Given the description of an element on the screen output the (x, y) to click on. 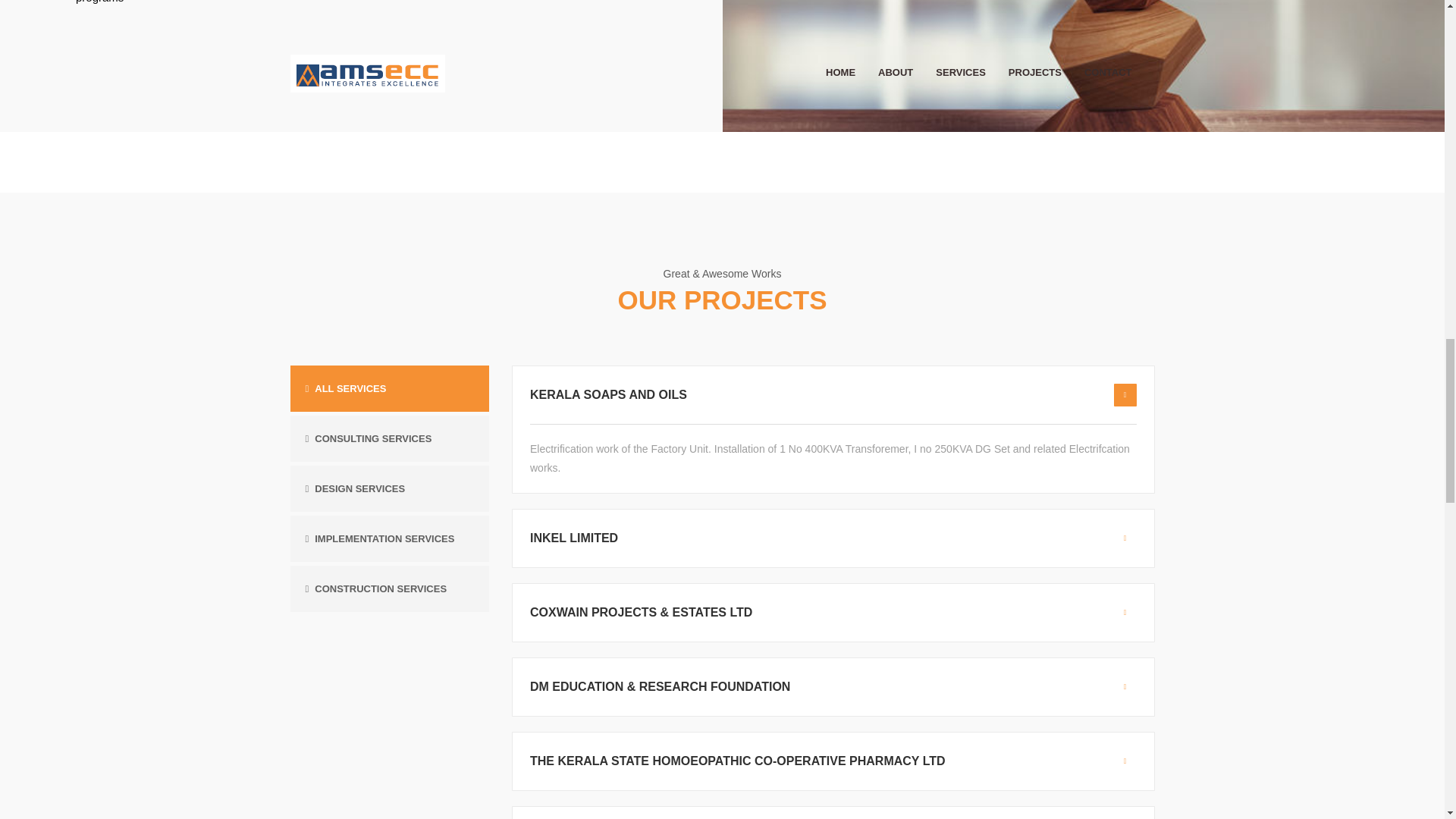
ALL SERVICES (344, 387)
INKEL LIMITED (573, 536)
KERALA SOAPS AND OILS (608, 394)
DESIGN SERVICES (354, 487)
THE KERALA STATE HOMOEOPATHIC CO-OPERATIVE PHARMACY LTD (736, 759)
IMPLEMENTATION SERVICES (379, 537)
CONSULTING SERVICES (367, 437)
CONSTRUCTION SERVICES (375, 587)
